Given the description of an element on the screen output the (x, y) to click on. 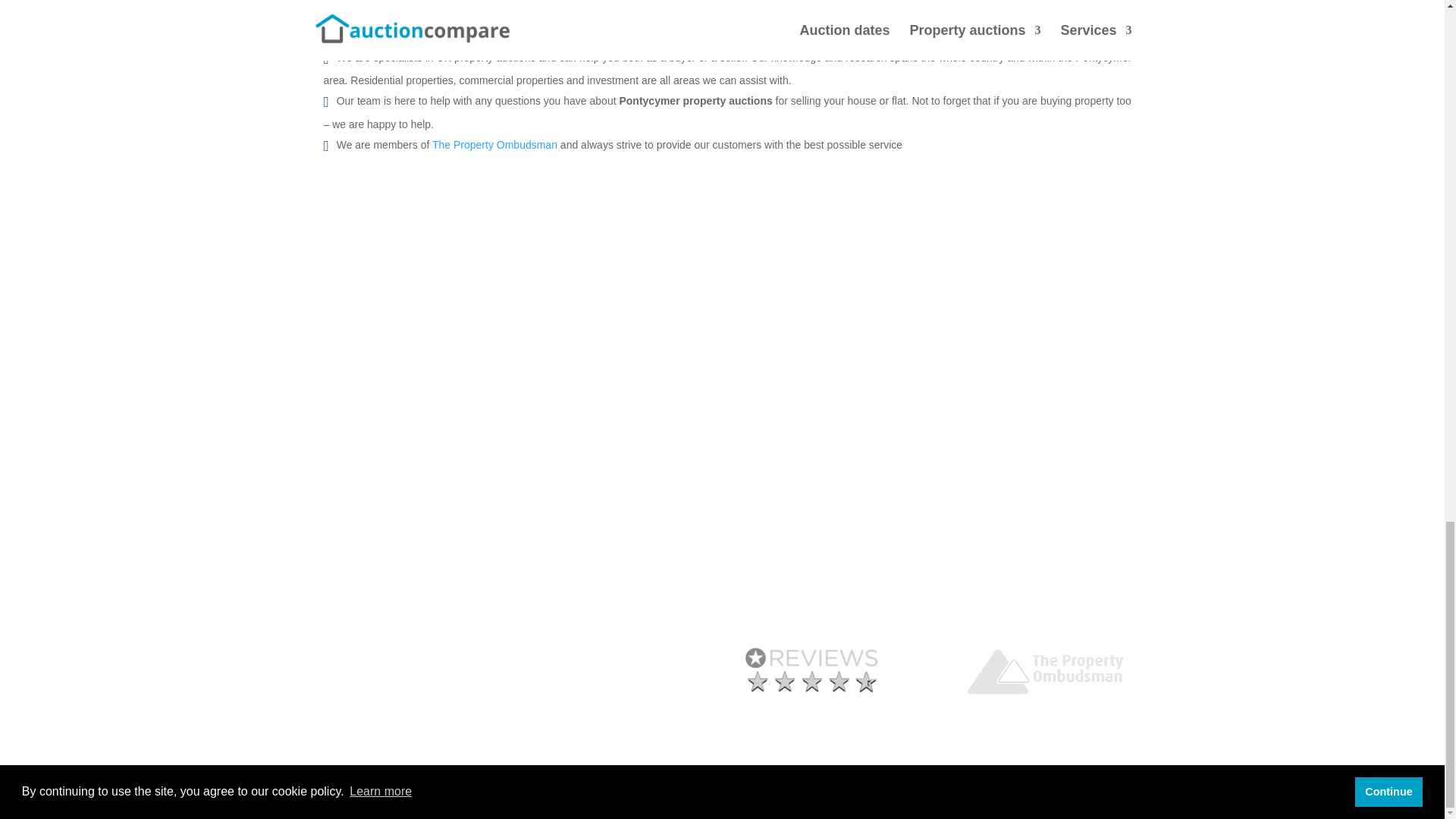
Property auctions UK (578, 541)
Property auction dates (366, 541)
Contact (978, 541)
About (974, 559)
The Property Ombudsman (494, 144)
